Given the description of an element on the screen output the (x, y) to click on. 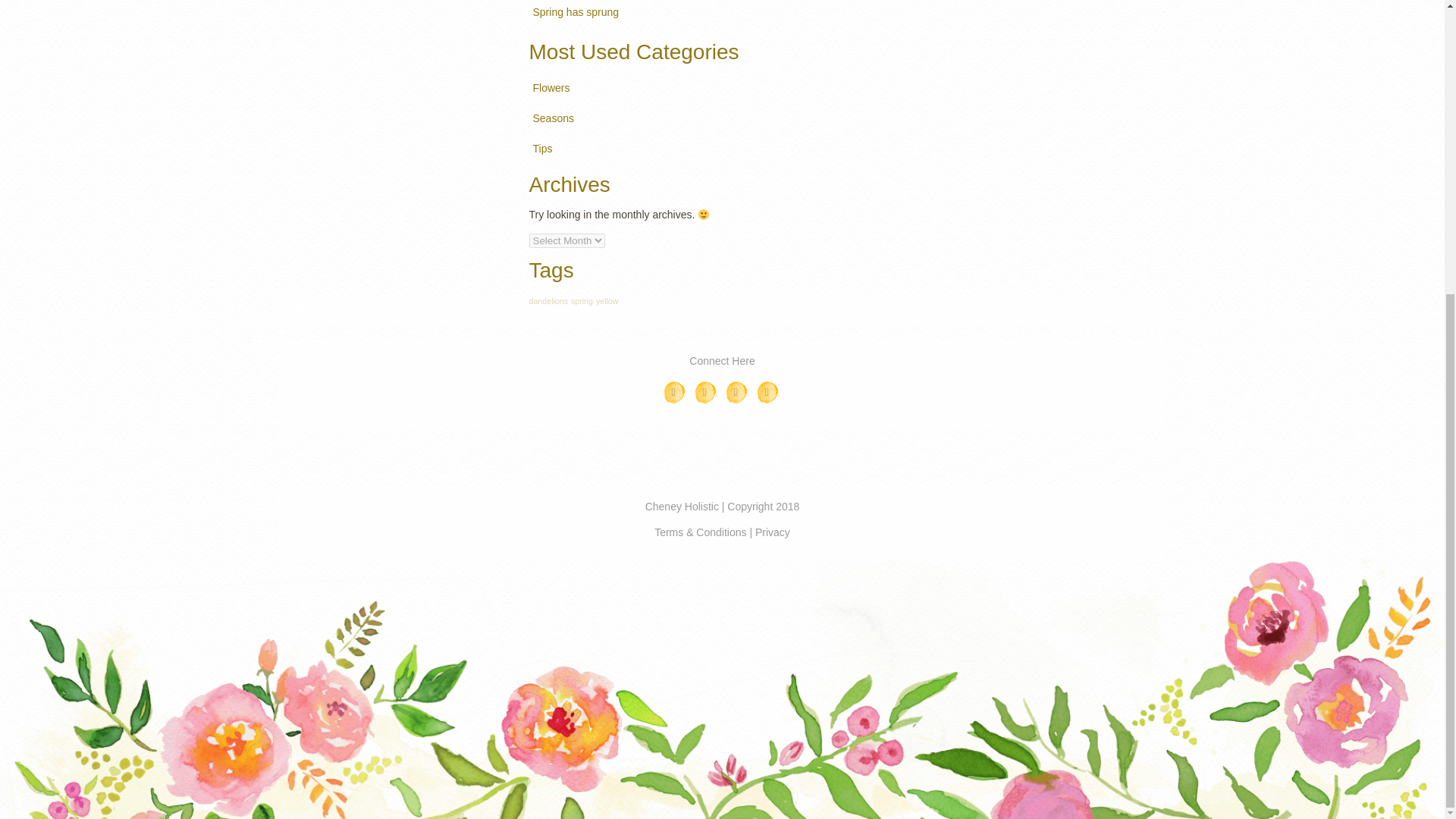
spring (581, 300)
Privacy (772, 532)
Find us on linkedin (737, 392)
Spring has sprung (576, 13)
yellow (606, 300)
Find us on facebook (551, 88)
dandelions (674, 392)
Find us on instagram (549, 300)
